Given the description of an element on the screen output the (x, y) to click on. 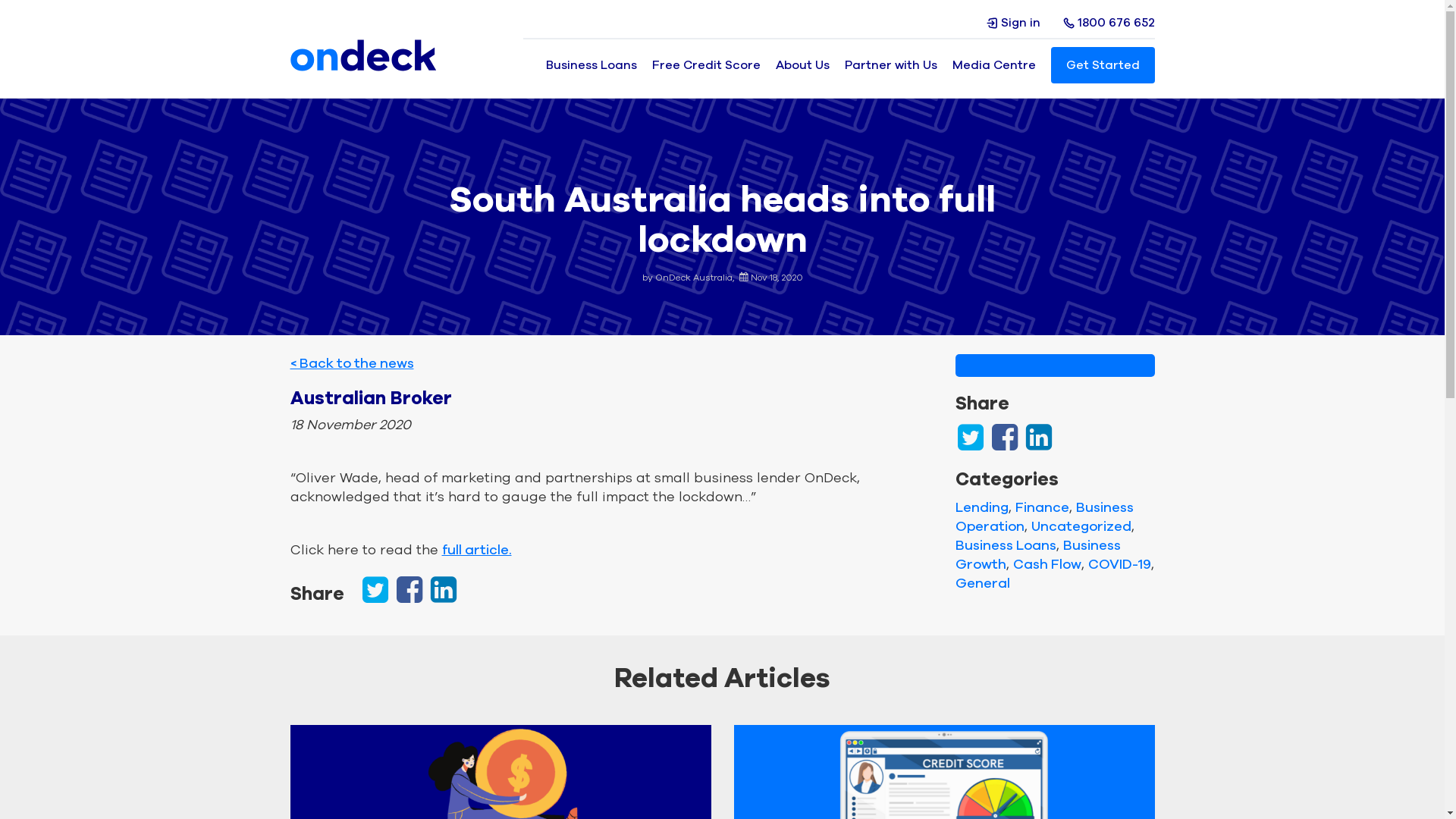
Sign in Element type: text (1012, 22)
General Element type: text (982, 583)
Media Centre Element type: text (993, 65)
Business Operation Element type: text (1044, 516)
Get Started Element type: text (1102, 65)
Uncategorized Element type: text (1081, 526)
OnDeck home Element type: text (363, 55)
About Us Element type: text (801, 65)
full article. Element type: text (476, 549)
Business Growth Element type: text (1037, 554)
< Back to the news Element type: text (351, 363)
Lending Element type: text (981, 507)
COVID-19 Element type: text (1119, 564)
Business Loans Element type: text (591, 65)
Free Credit Score Element type: text (706, 65)
Finance Element type: text (1042, 507)
Cash Flow Element type: text (1047, 564)
1800 676 652 Element type: text (1108, 22)
Partner with Us Element type: text (890, 65)
Business Loans Element type: text (1005, 545)
